Given the description of an element on the screen output the (x, y) to click on. 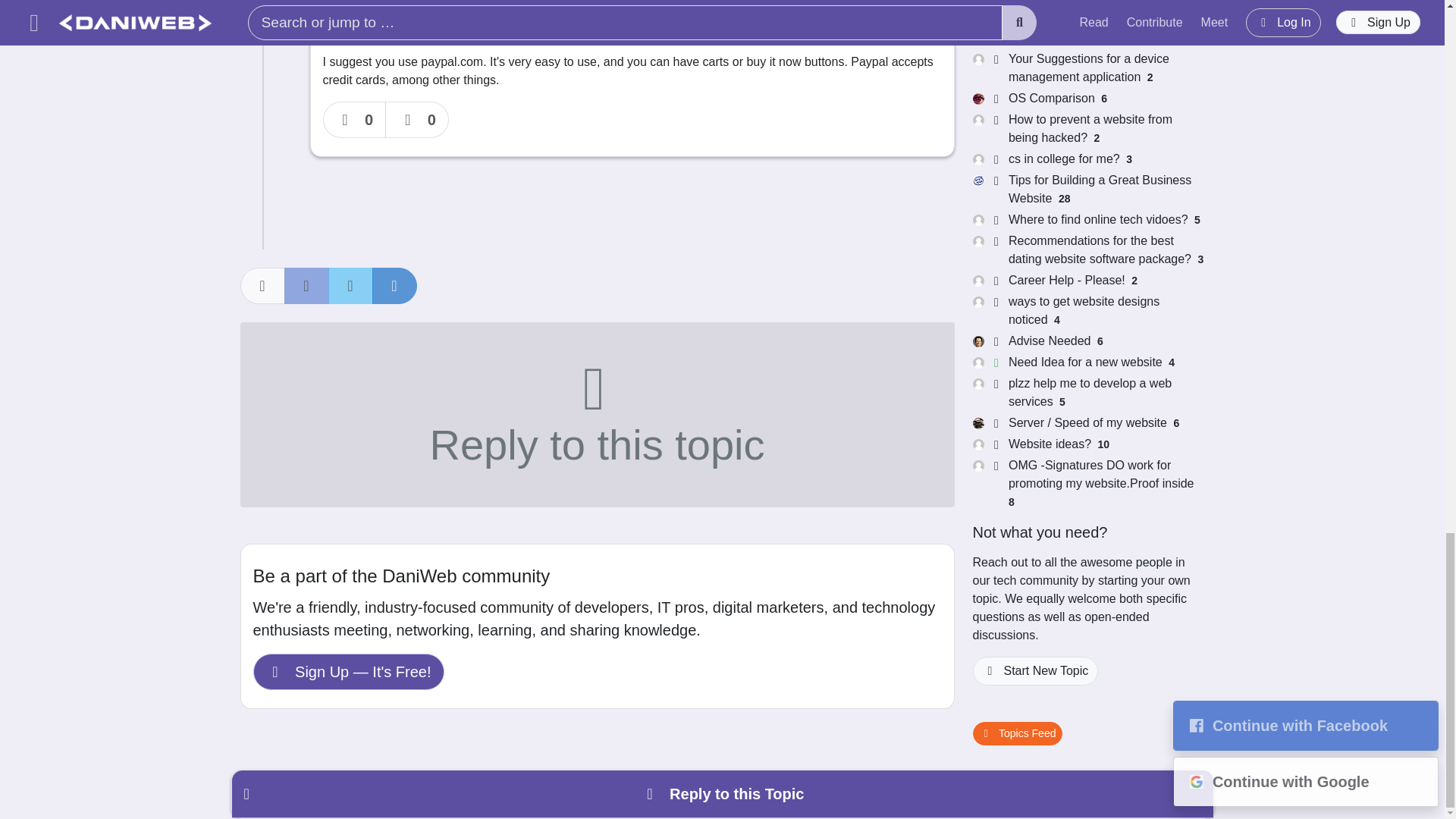
0 (416, 119)
mychalberry (366, 14)
Facebook (306, 285)
LinkedIn (393, 285)
Share (261, 285)
Twitter (349, 285)
Reply to this topic (596, 414)
0 (355, 119)
